Given the description of an element on the screen output the (x, y) to click on. 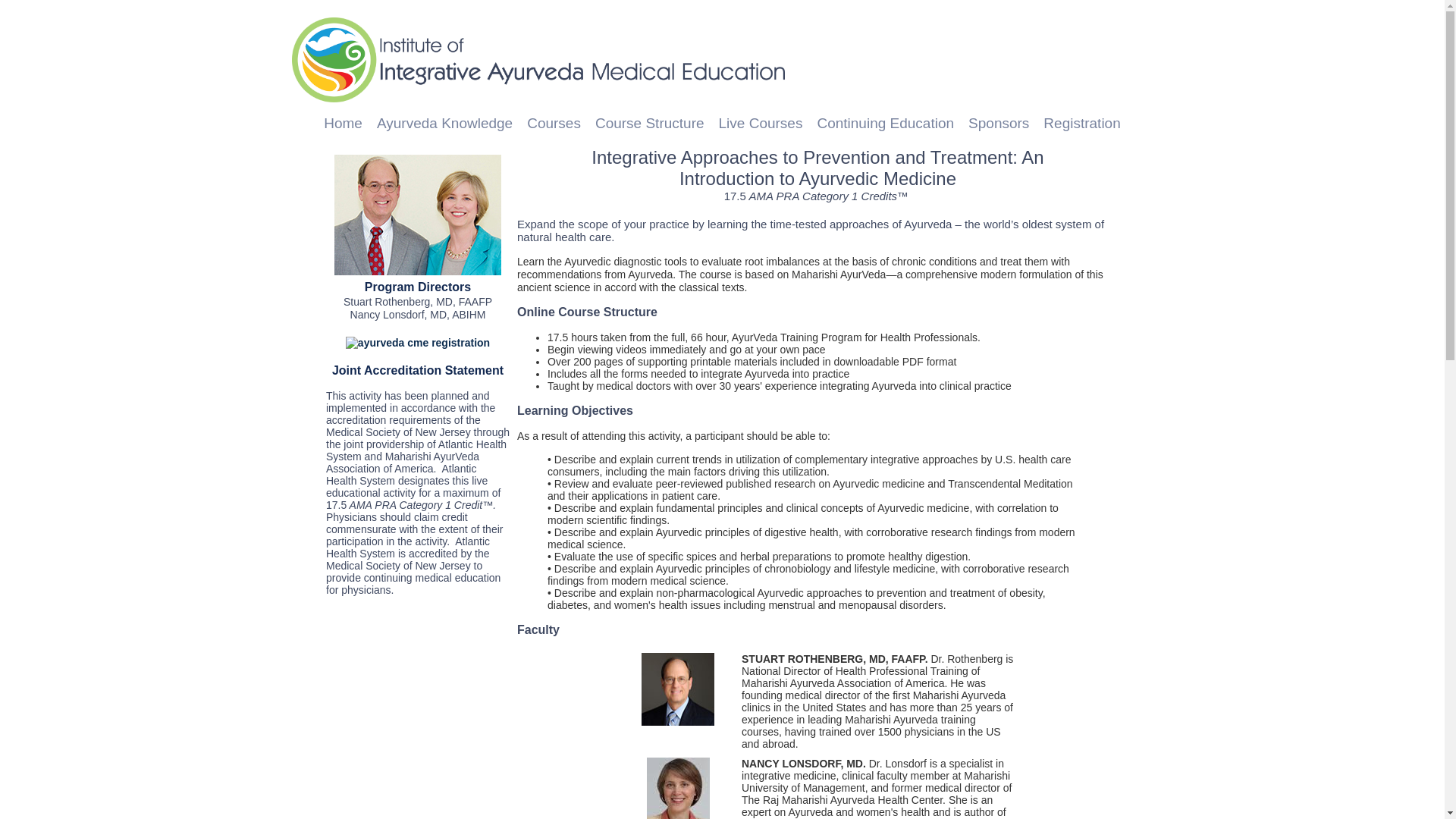
Home (342, 123)
Registration (1081, 123)
Sponsors (998, 123)
Live Courses (761, 123)
